Given the description of an element on the screen output the (x, y) to click on. 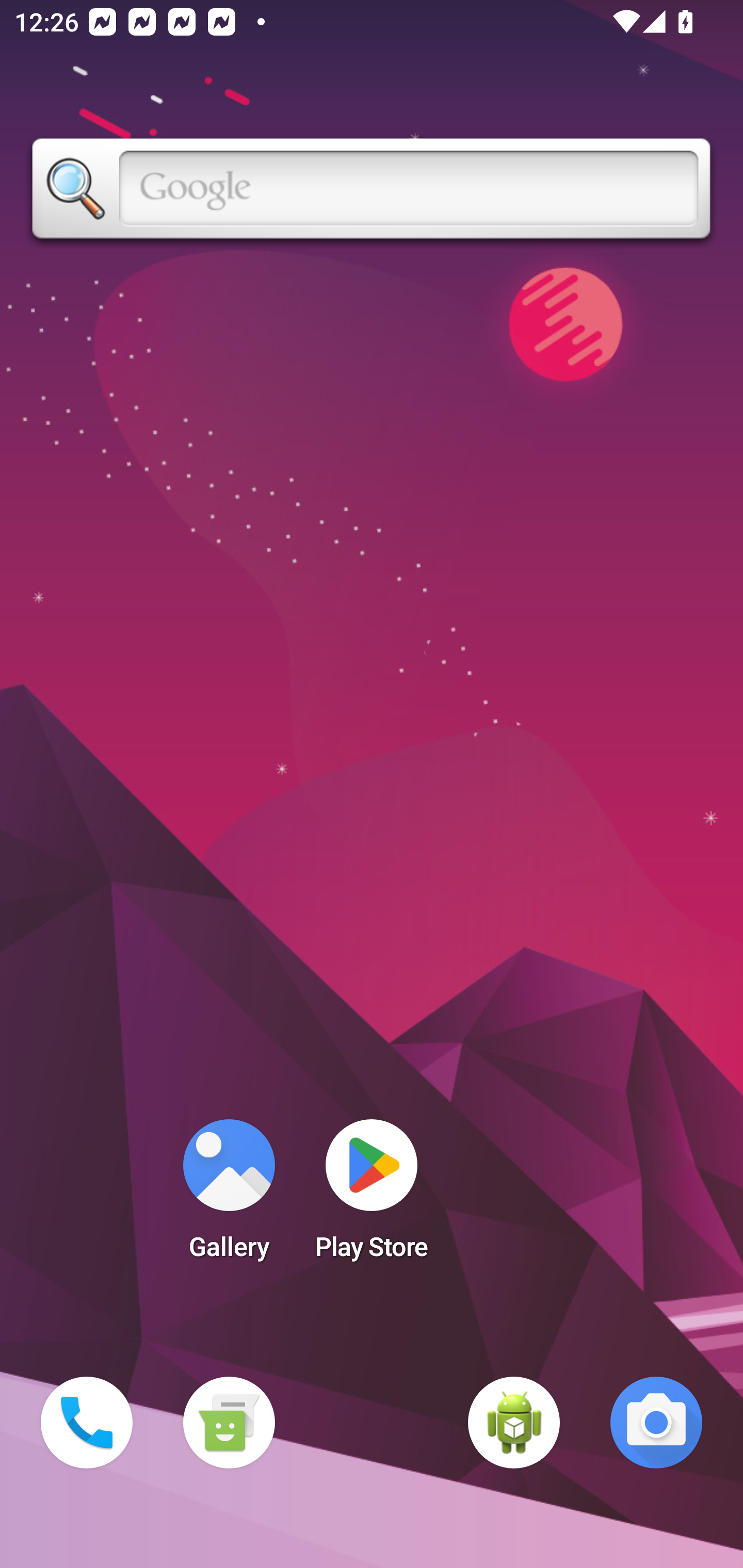
Gallery (228, 1195)
Play Store (371, 1195)
Phone (86, 1422)
Messaging (228, 1422)
WebView Browser Tester (513, 1422)
Camera (656, 1422)
